Given the description of an element on the screen output the (x, y) to click on. 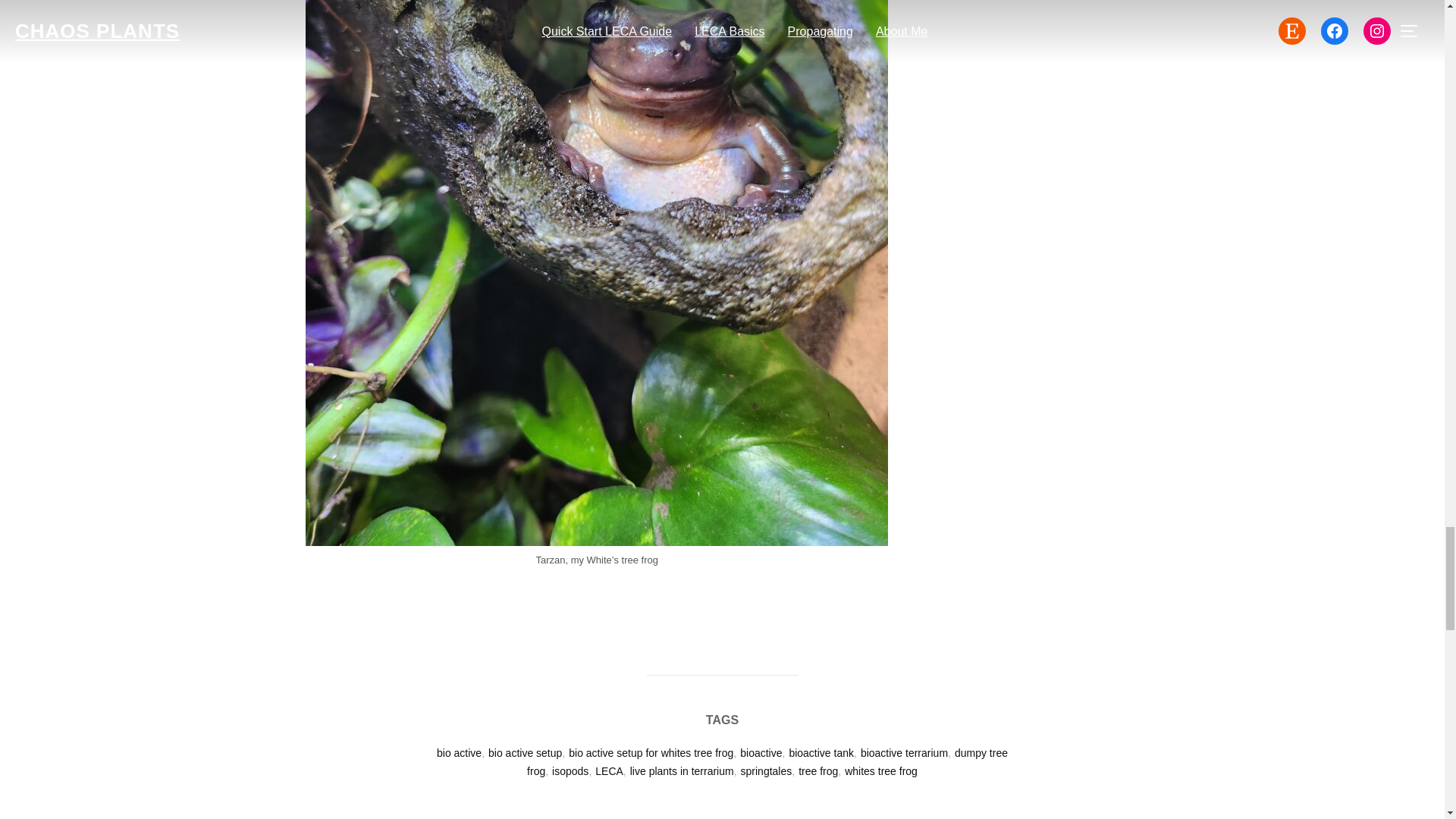
bio active setup (524, 752)
bio active (458, 752)
